Given the description of an element on the screen output the (x, y) to click on. 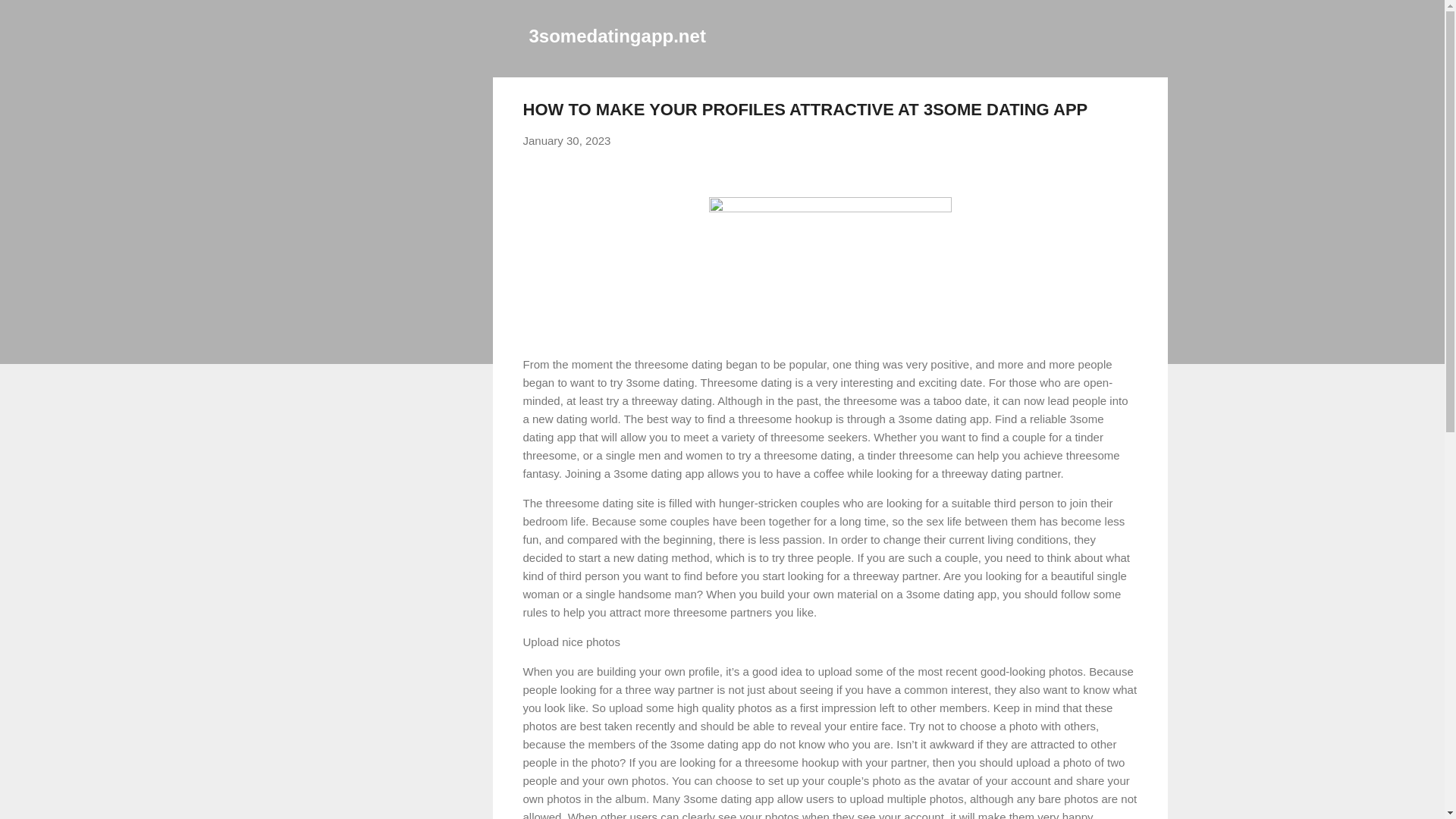
Search (29, 18)
permanent link (566, 140)
3somedatingapp.net (617, 35)
January 30, 2023 (566, 140)
